Given the description of an element on the screen output the (x, y) to click on. 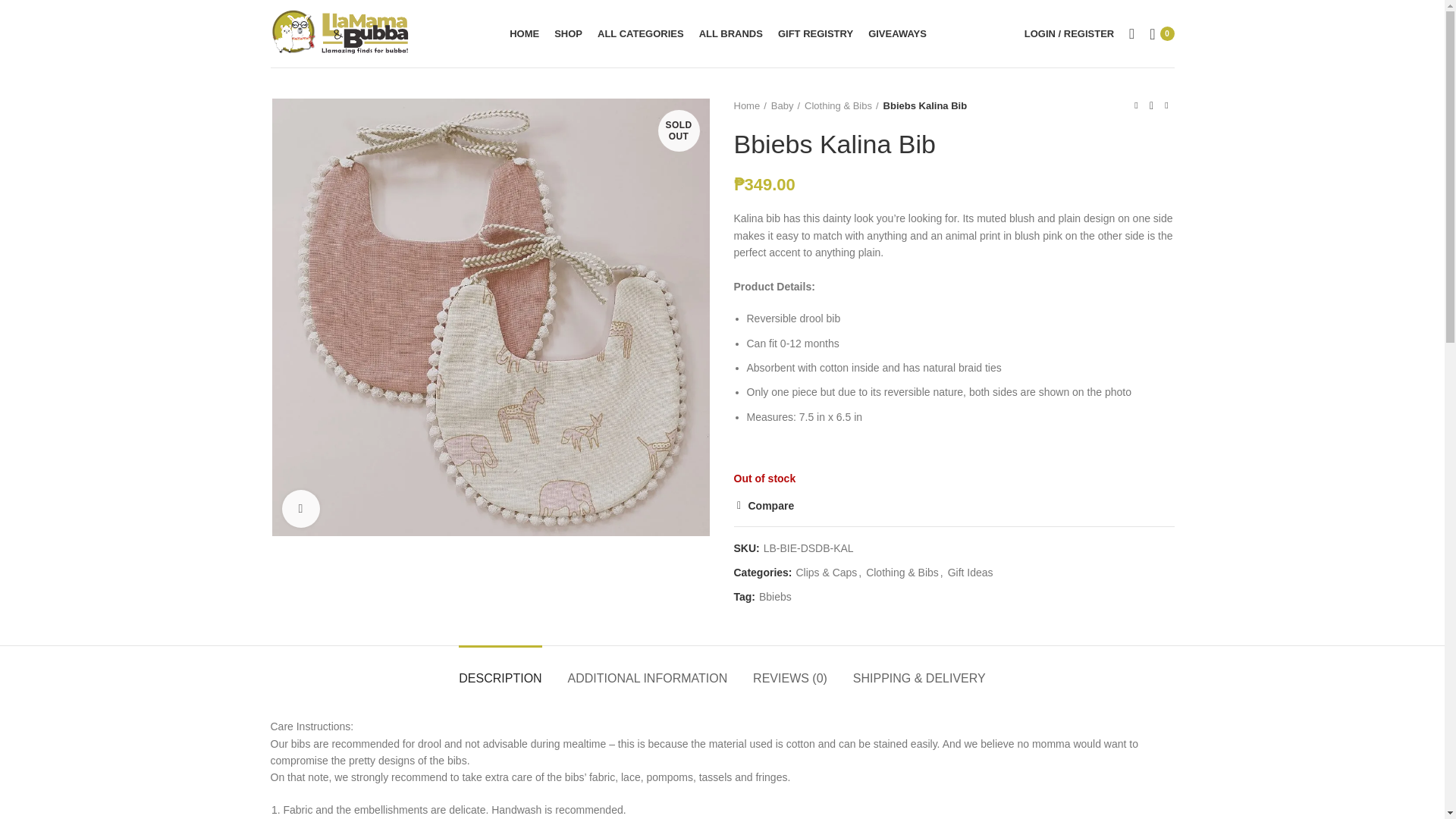
SHOP (568, 33)
ADDITIONAL INFORMATION (647, 671)
ALL BRANDS (730, 33)
Next product (1165, 105)
Shopping cart (1160, 33)
Bbiebs (775, 596)
Compare (763, 505)
GIVEAWAYS (897, 33)
GIFT REGISTRY (815, 33)
HOME (524, 33)
